Given the description of an element on the screen output the (x, y) to click on. 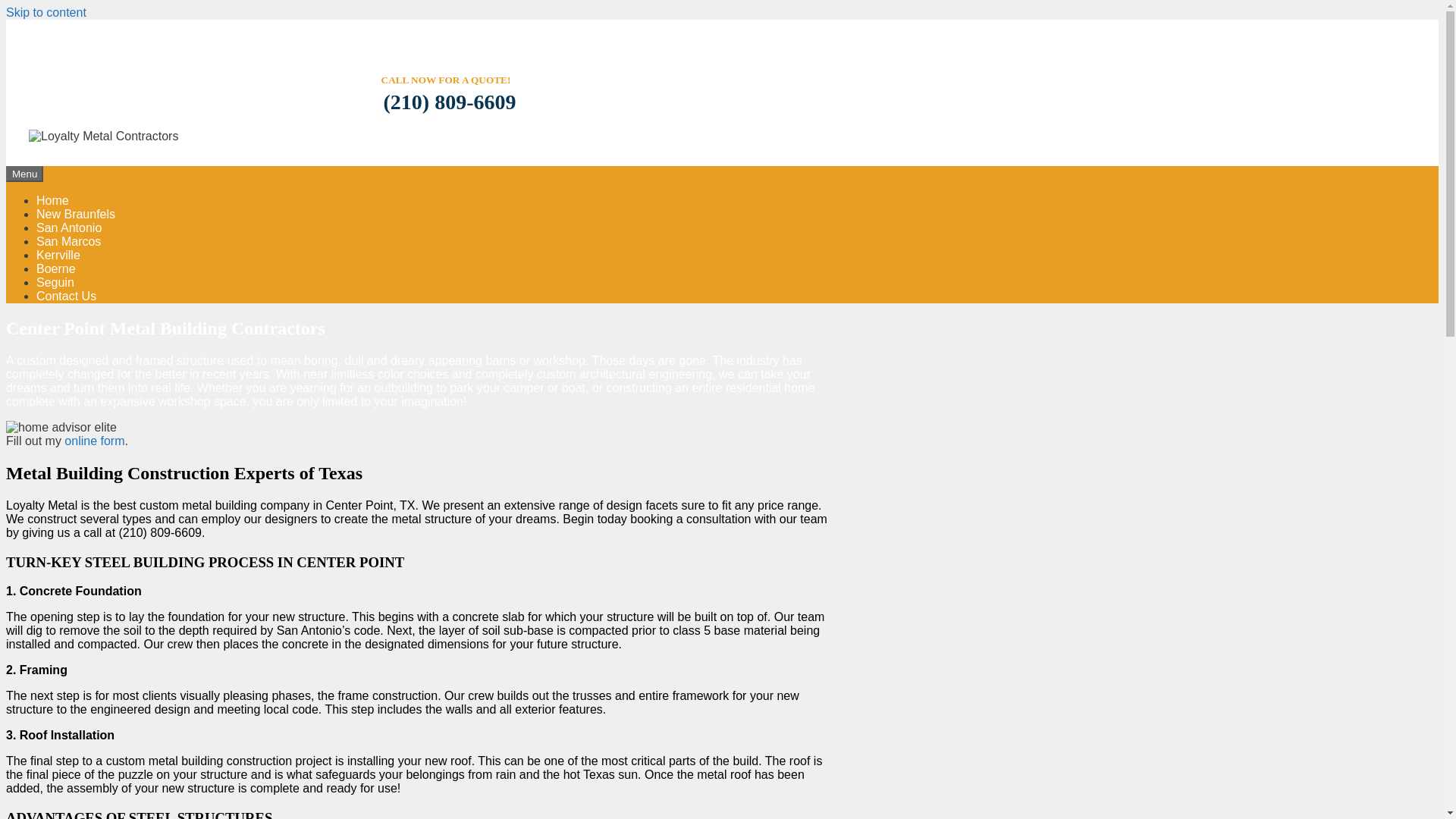
San Marcos (68, 241)
Boerne (55, 268)
Contact Us (66, 295)
Loyalty Metal Contractors (103, 135)
online form (93, 440)
Loyalty Metal Contractors (103, 136)
Skip to content (45, 11)
Kerrville (58, 254)
Skip to content (45, 11)
Home (52, 200)
